Given the description of an element on the screen output the (x, y) to click on. 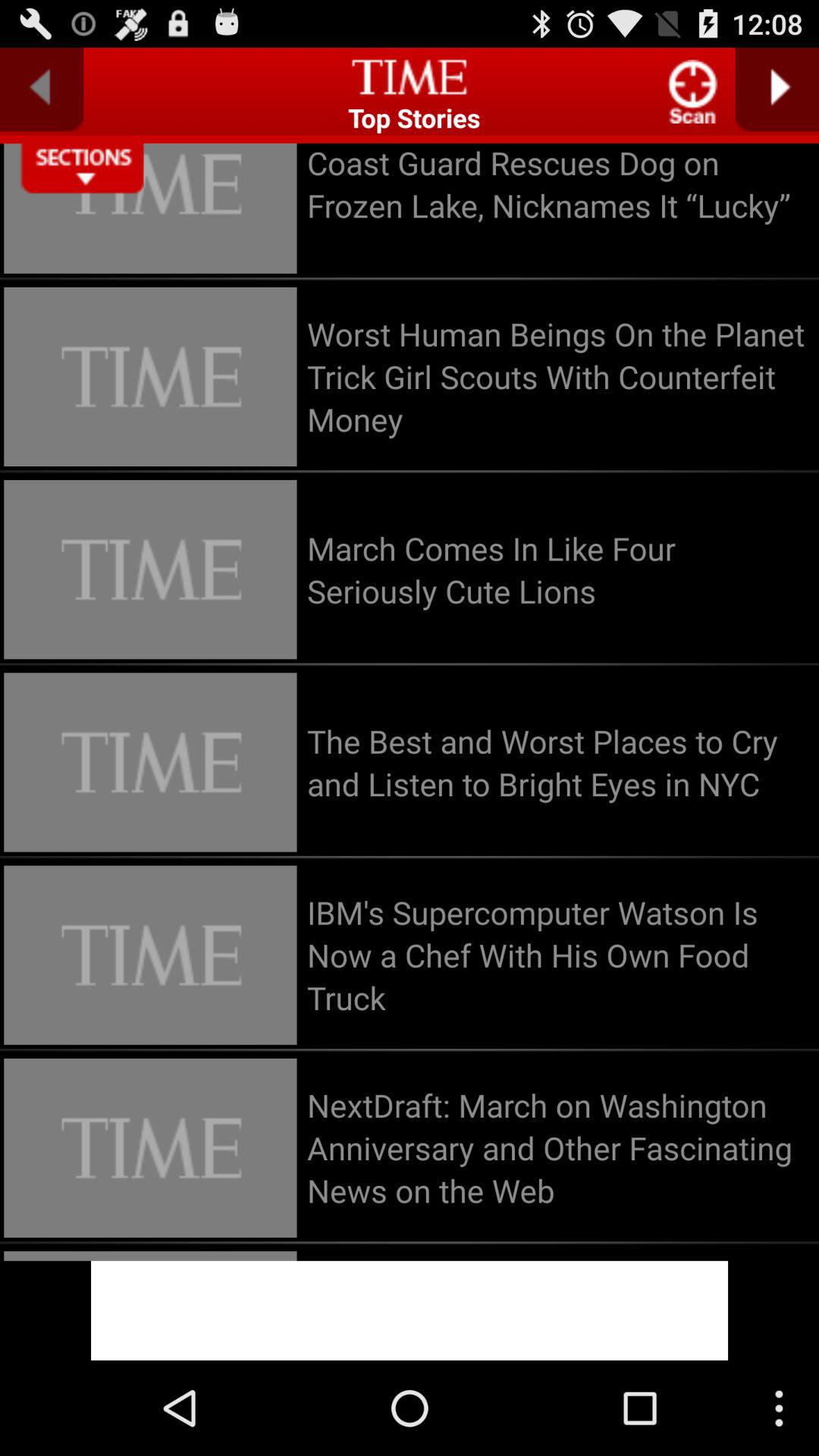
go to next page (777, 89)
